Given the description of an element on the screen output the (x, y) to click on. 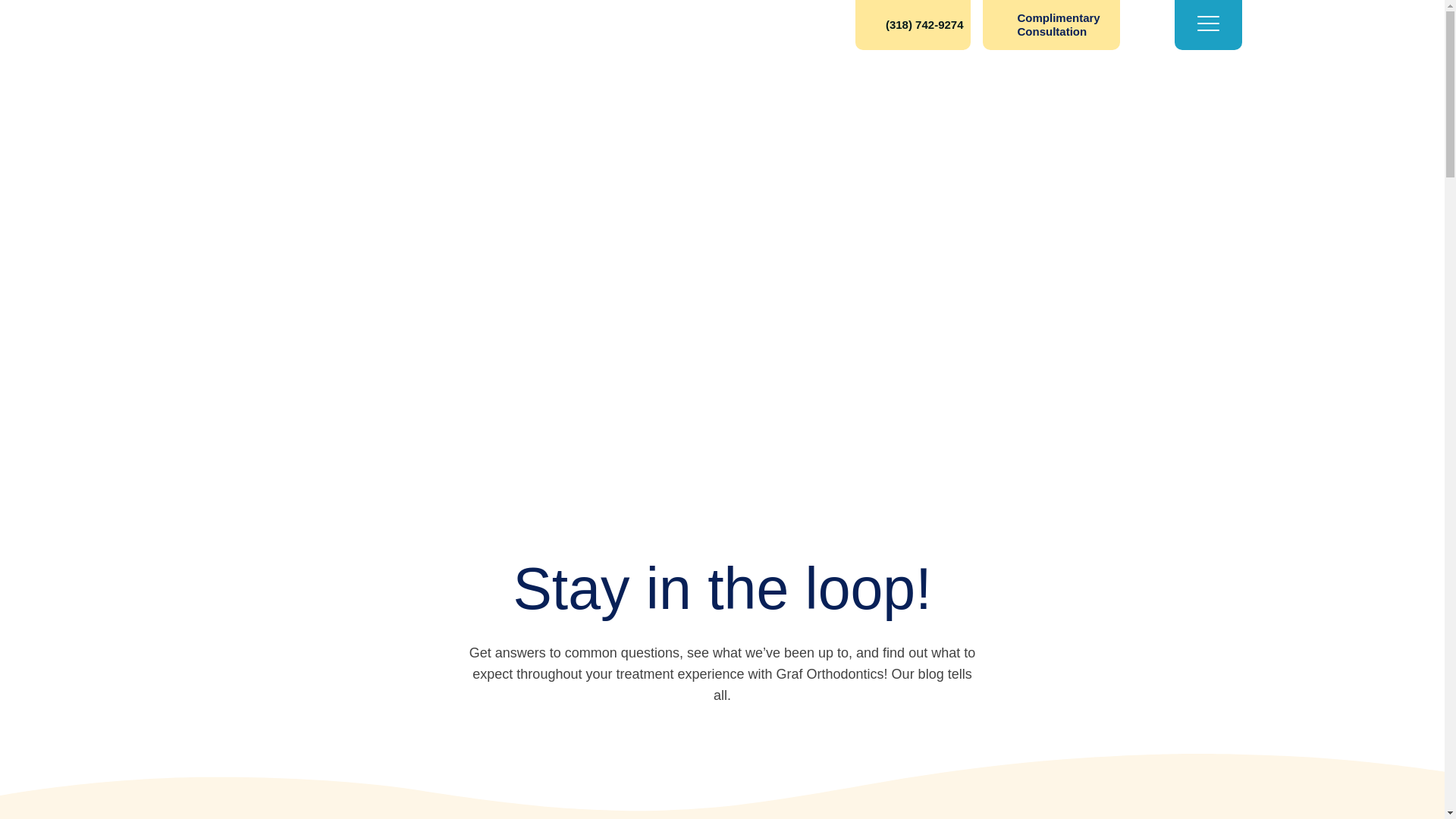
Complimentary Consultation (1050, 24)
